Given the description of an element on the screen output the (x, y) to click on. 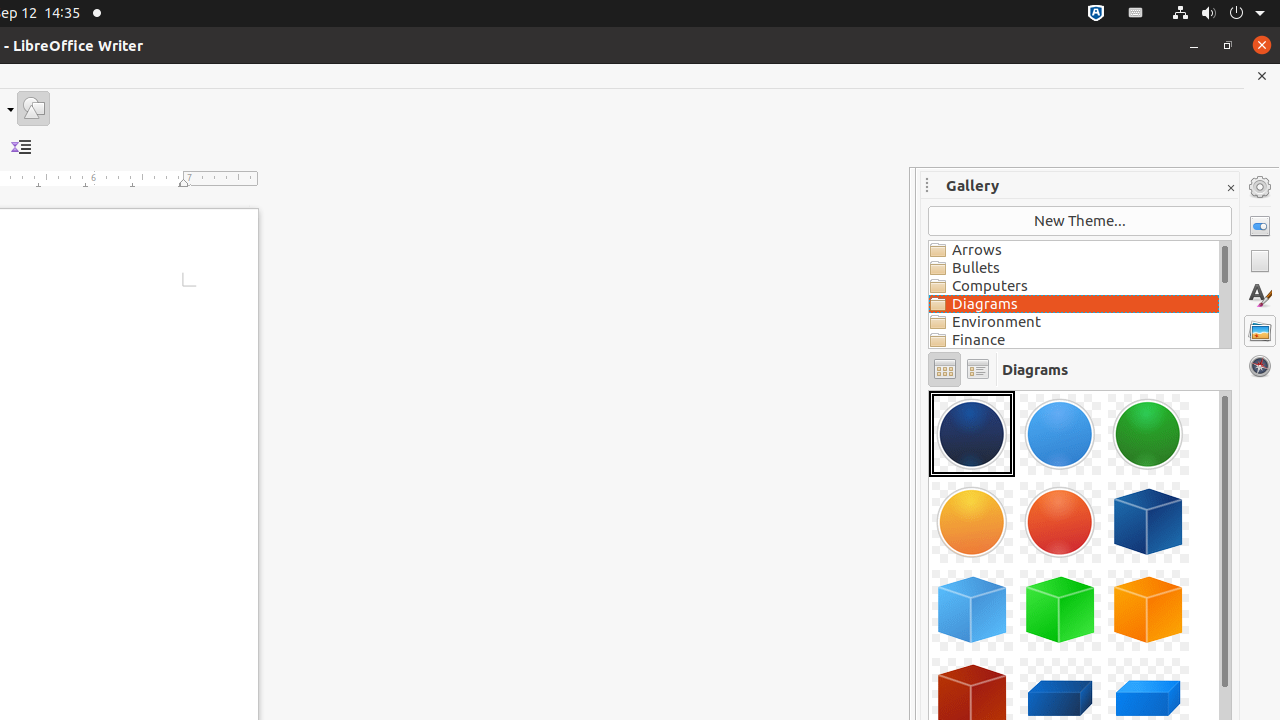
Environment Element type: list-item (1074, 322)
Component-Cube04-Orange Element type: list-item (1148, 610)
:1.21/StatusNotifierItem Element type: menu (1136, 13)
System Element type: menu (1218, 13)
Styles Element type: radio-button (1260, 296)
